Given the description of an element on the screen output the (x, y) to click on. 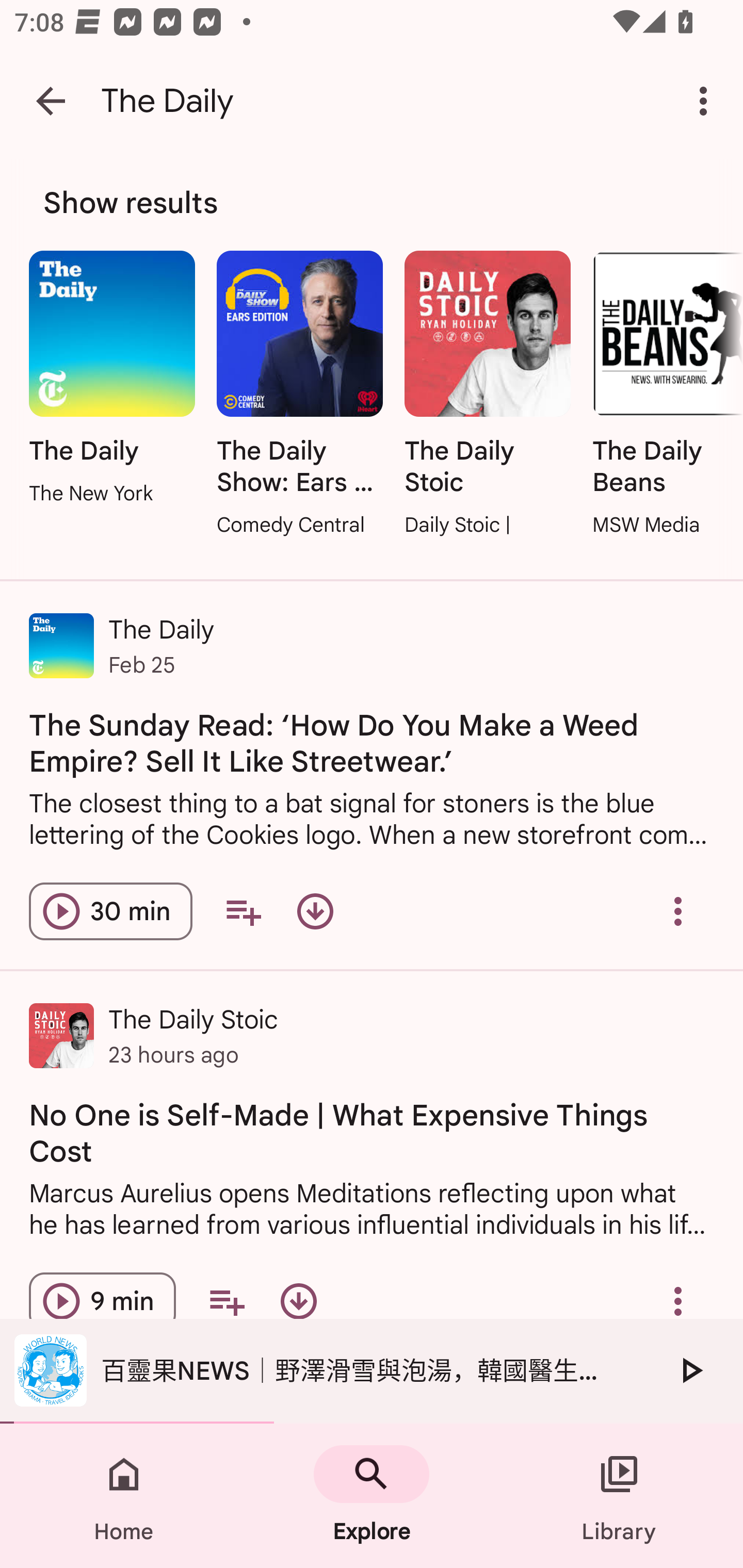
Navigate up The Daily More options (371, 100)
Navigate up (50, 101)
More options (706, 101)
The Daily The Daily The New York Times (111, 379)
The Daily Beans The Daily Beans MSW Media (662, 394)
Add to your queue (242, 911)
Download episode (315, 911)
Overflow menu (677, 911)
Add to your queue (226, 1301)
Download episode (298, 1301)
Overflow menu (677, 1301)
Play (690, 1370)
Home (123, 1495)
Library (619, 1495)
